Given the description of an element on the screen output the (x, y) to click on. 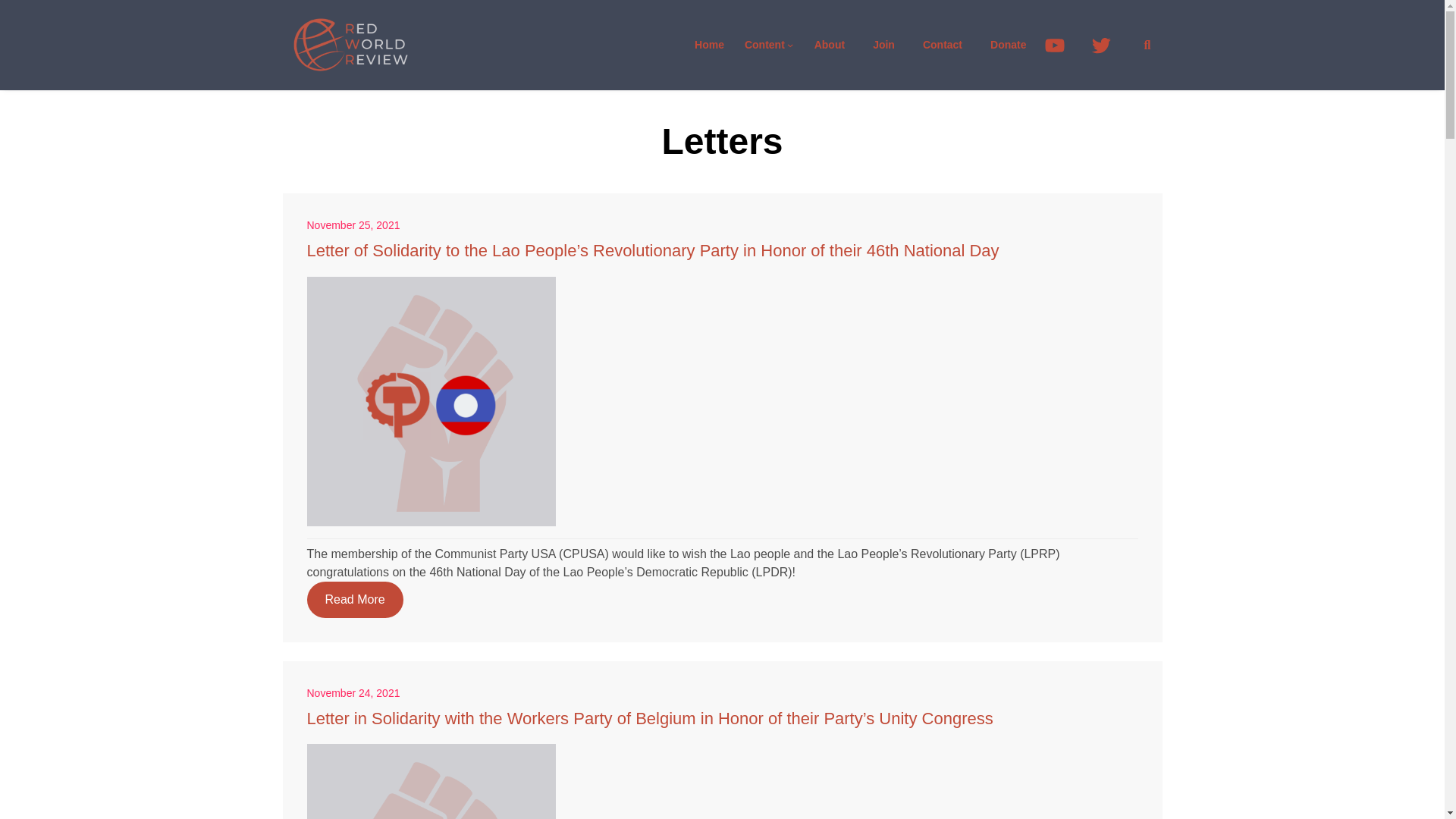
Contact (942, 44)
Contact (828, 44)
Home (709, 44)
Donate (1007, 44)
About (828, 44)
Content (764, 44)
Content (764, 44)
YouTube (1061, 44)
Contact (883, 44)
Twitter (1107, 44)
Join (883, 44)
Home (709, 44)
Donate (1007, 44)
Contact (942, 44)
